Given the description of an element on the screen output the (x, y) to click on. 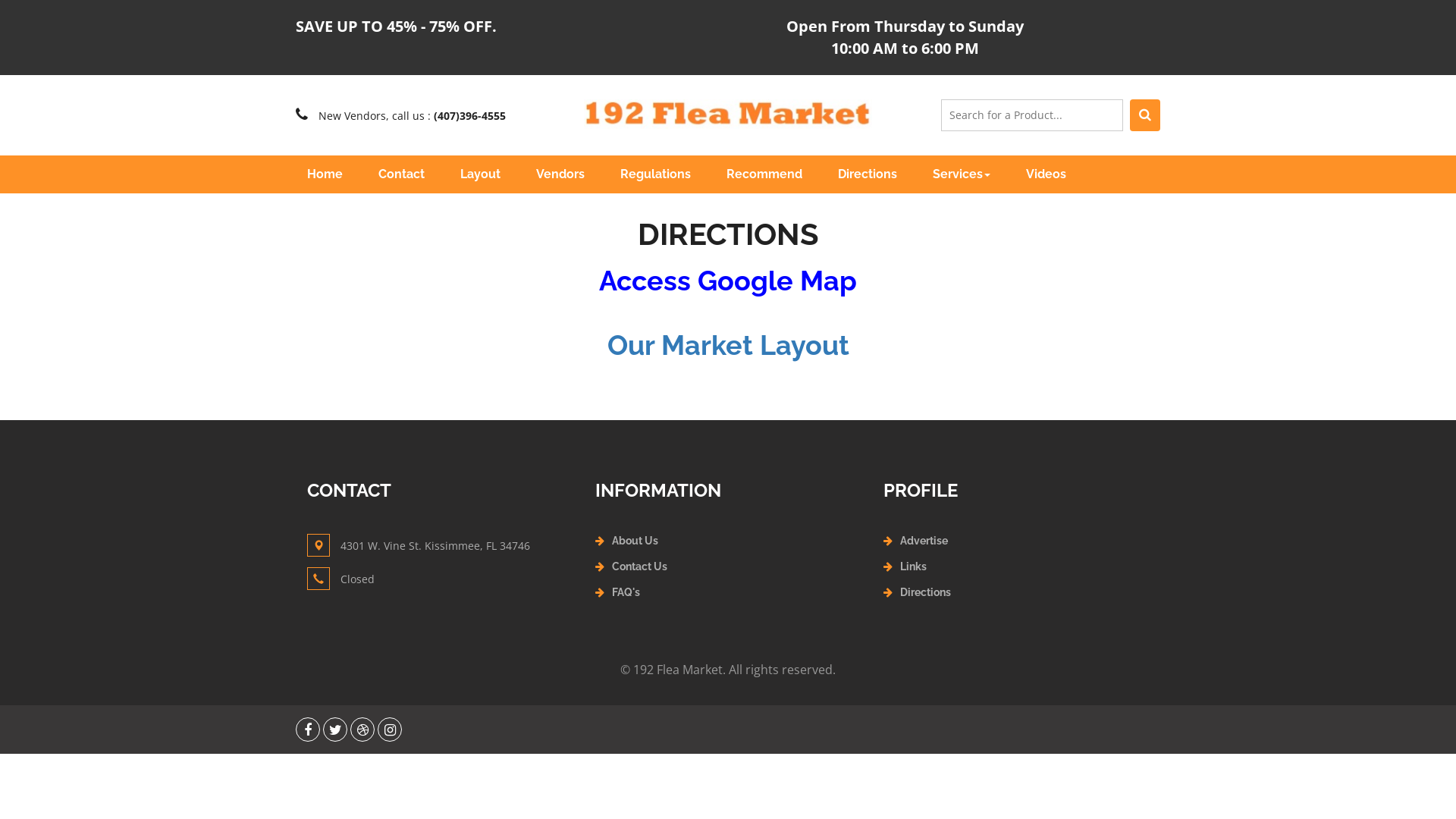
Directions Element type: text (867, 174)
Layout Element type: text (479, 174)
Recommend Element type: text (764, 174)
Videos Element type: text (1045, 174)
Links Element type: text (913, 566)
FAQ's Element type: text (625, 592)
Our Market Layout Element type: text (727, 344)
Access Google Map Element type: text (727, 280)
Services Element type: text (961, 174)
Directions Element type: text (925, 592)
About Us Element type: text (634, 540)
Contact Element type: text (401, 174)
Vendors Element type: text (560, 174)
Regulations Element type: text (655, 174)
Home Element type: text (324, 174)
Advertise Element type: text (923, 540)
Contact Us Element type: text (639, 566)
